Given the description of an element on the screen output the (x, y) to click on. 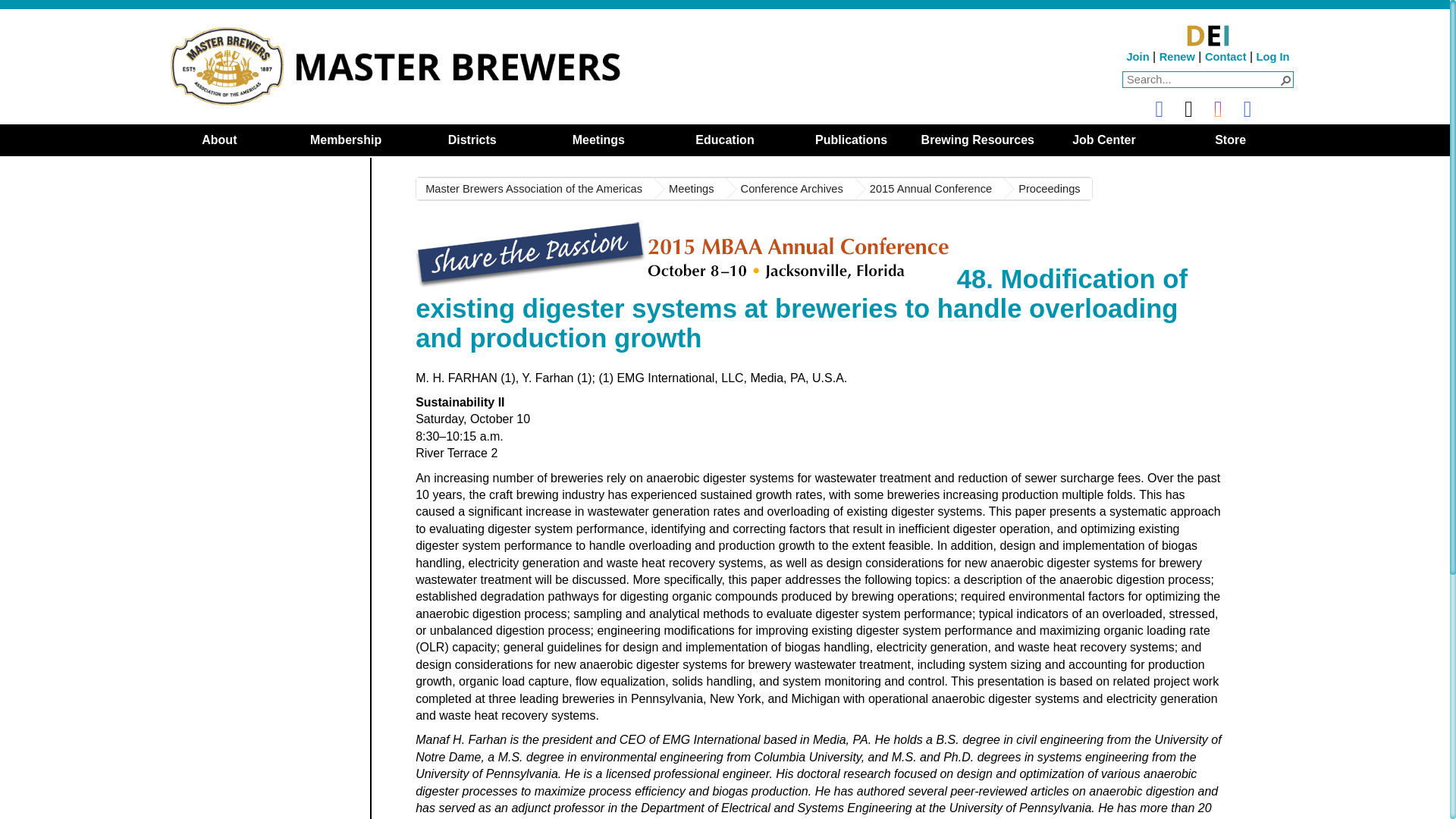
MBAA Meetings (689, 188)
Join (1136, 56)
Districts (472, 139)
About the Master Brewers Assocation of Americas (218, 139)
MBAA Membership (345, 139)
Search... (1202, 79)
Browser Master Brewers Titles and Goods (1230, 139)
About (218, 139)
Search... (1202, 79)
Education (725, 139)
